Given the description of an element on the screen output the (x, y) to click on. 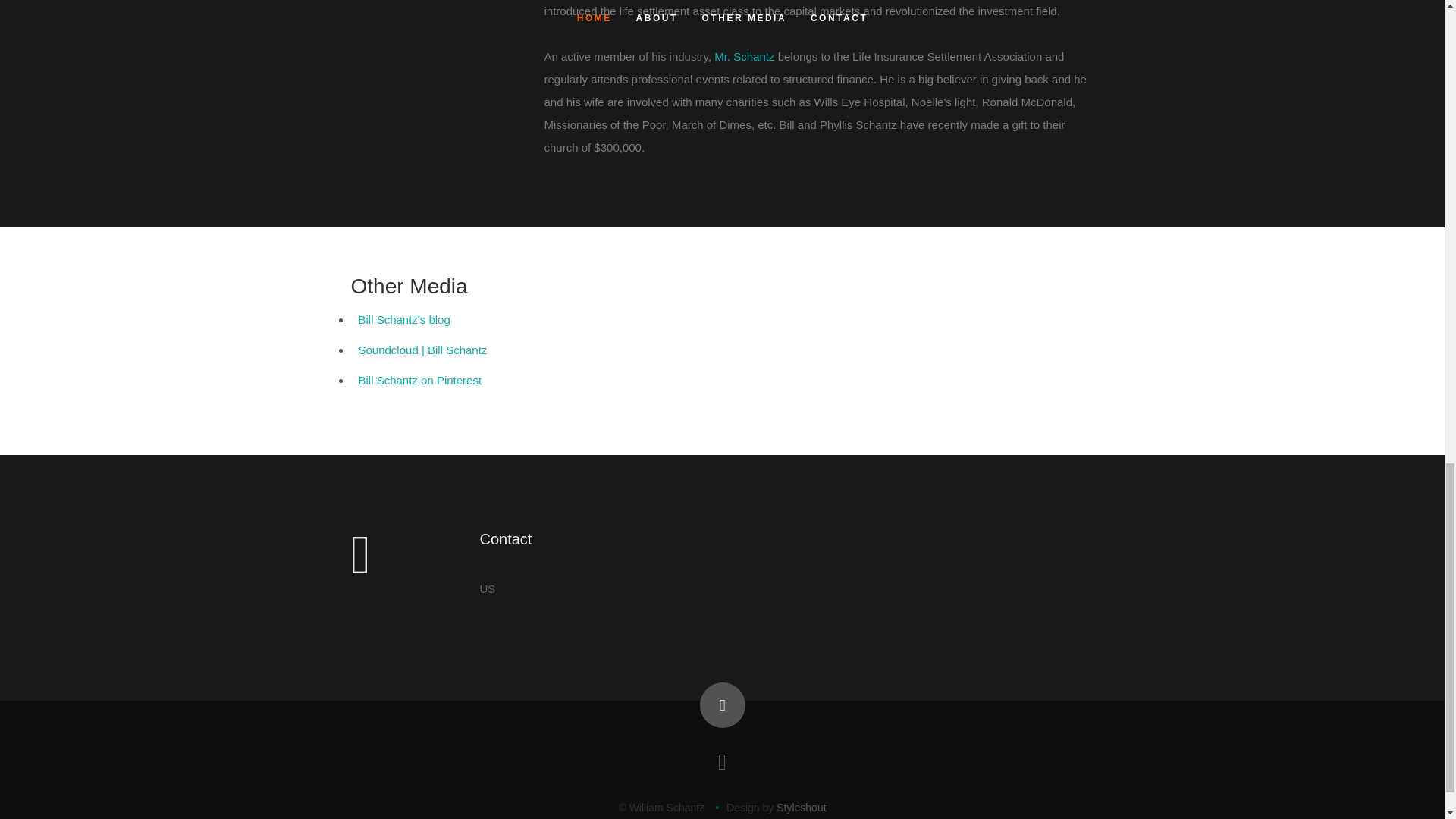
Bill Schantz on Pinterest (419, 379)
Styleshout (800, 807)
Styleshout (800, 807)
Mr. Schantz (744, 56)
Back to Top (721, 705)
Bill Schantz on Pinterest (419, 379)
Bill Schantz's blog (403, 318)
Bill Schantz's blog (403, 318)
